Given the description of an element on the screen output the (x, y) to click on. 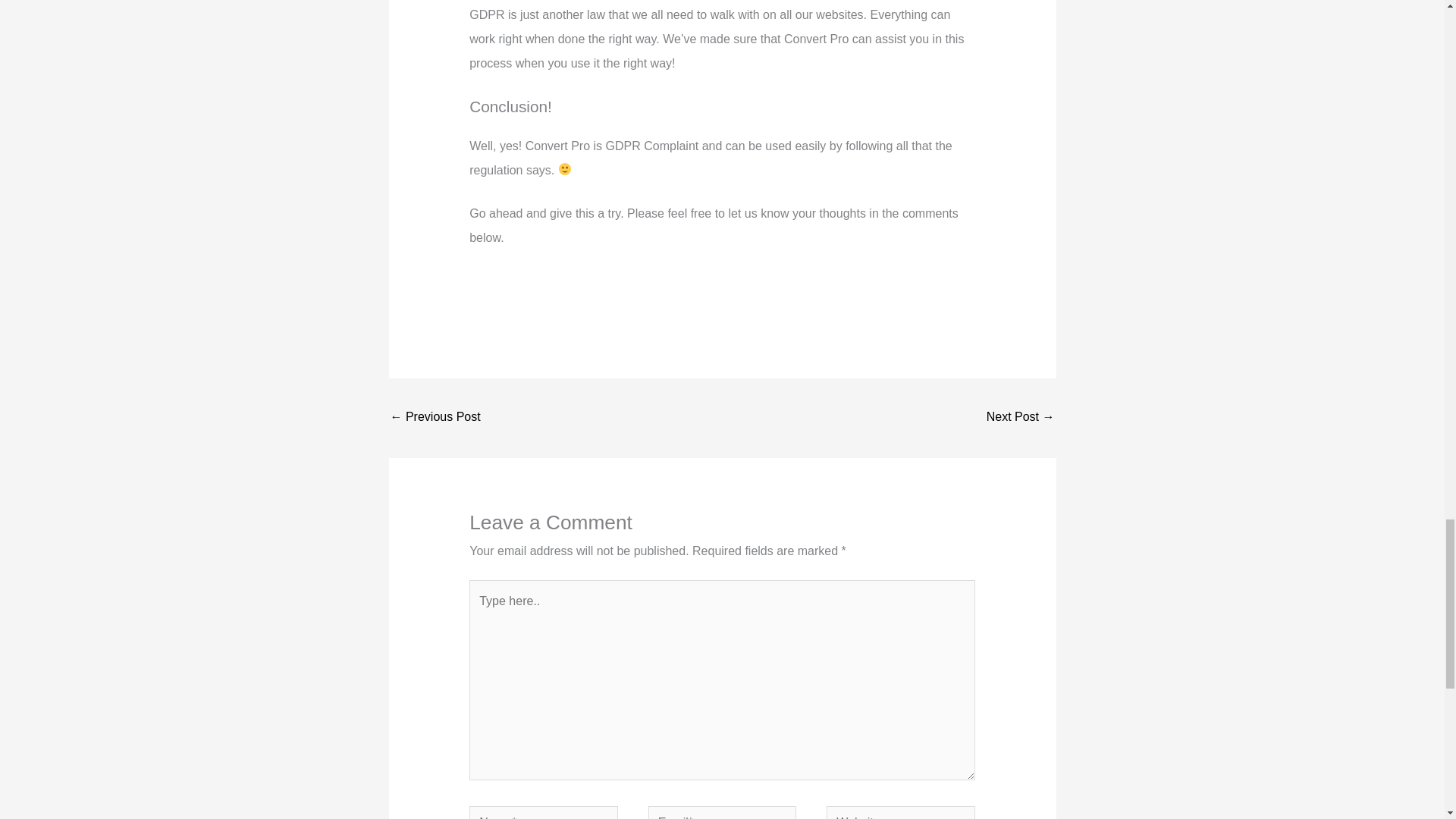
Convert Pro is WPML Compatible! (1020, 418)
Convert Pro Version 1.1.3: Introducing Ad Blocker Detection (435, 418)
